Given the description of an element on the screen output the (x, y) to click on. 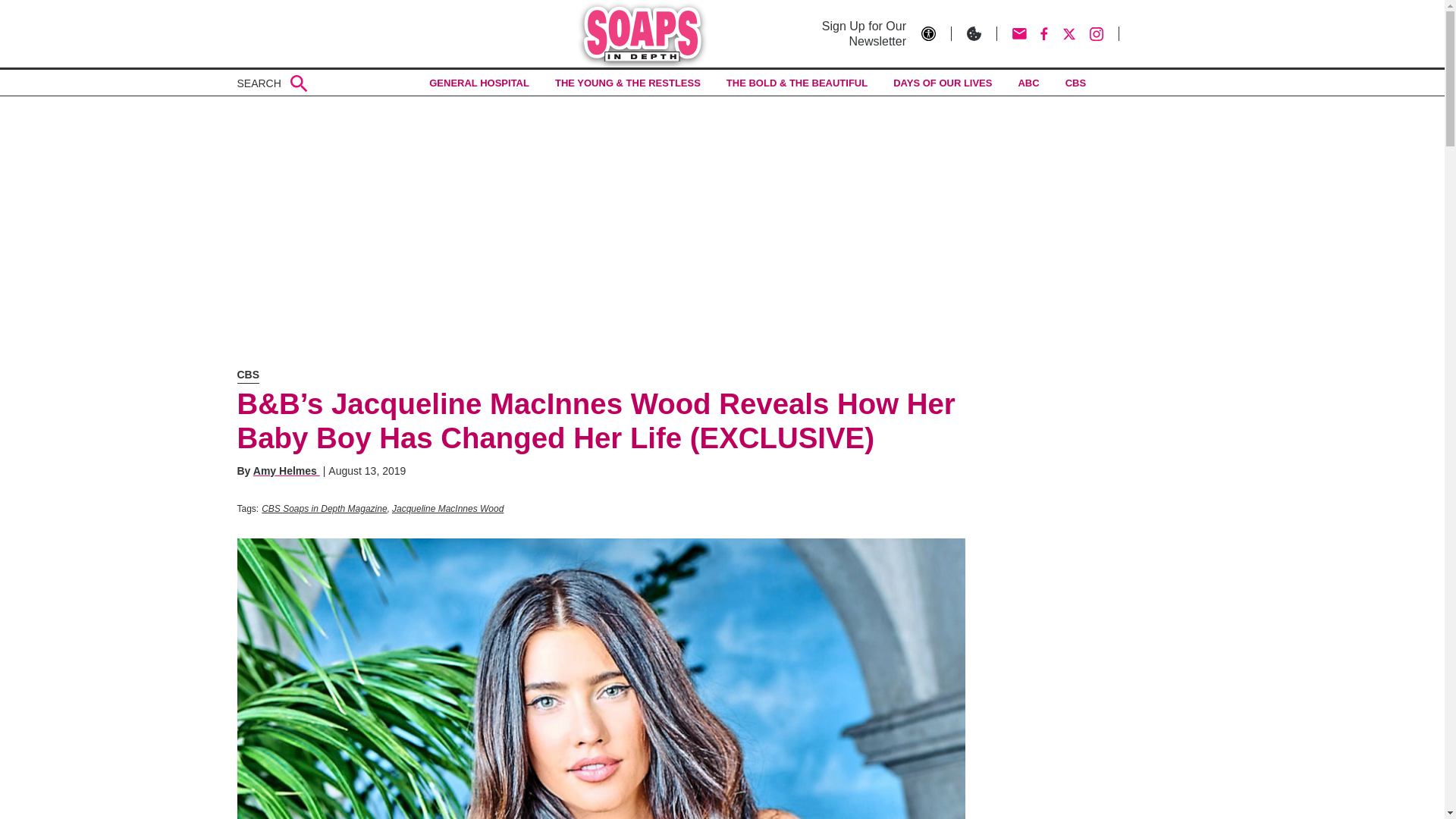
Accessibility statement link (936, 33)
Sign Up for Our Newsletter (856, 33)
